Given the description of an element on the screen output the (x, y) to click on. 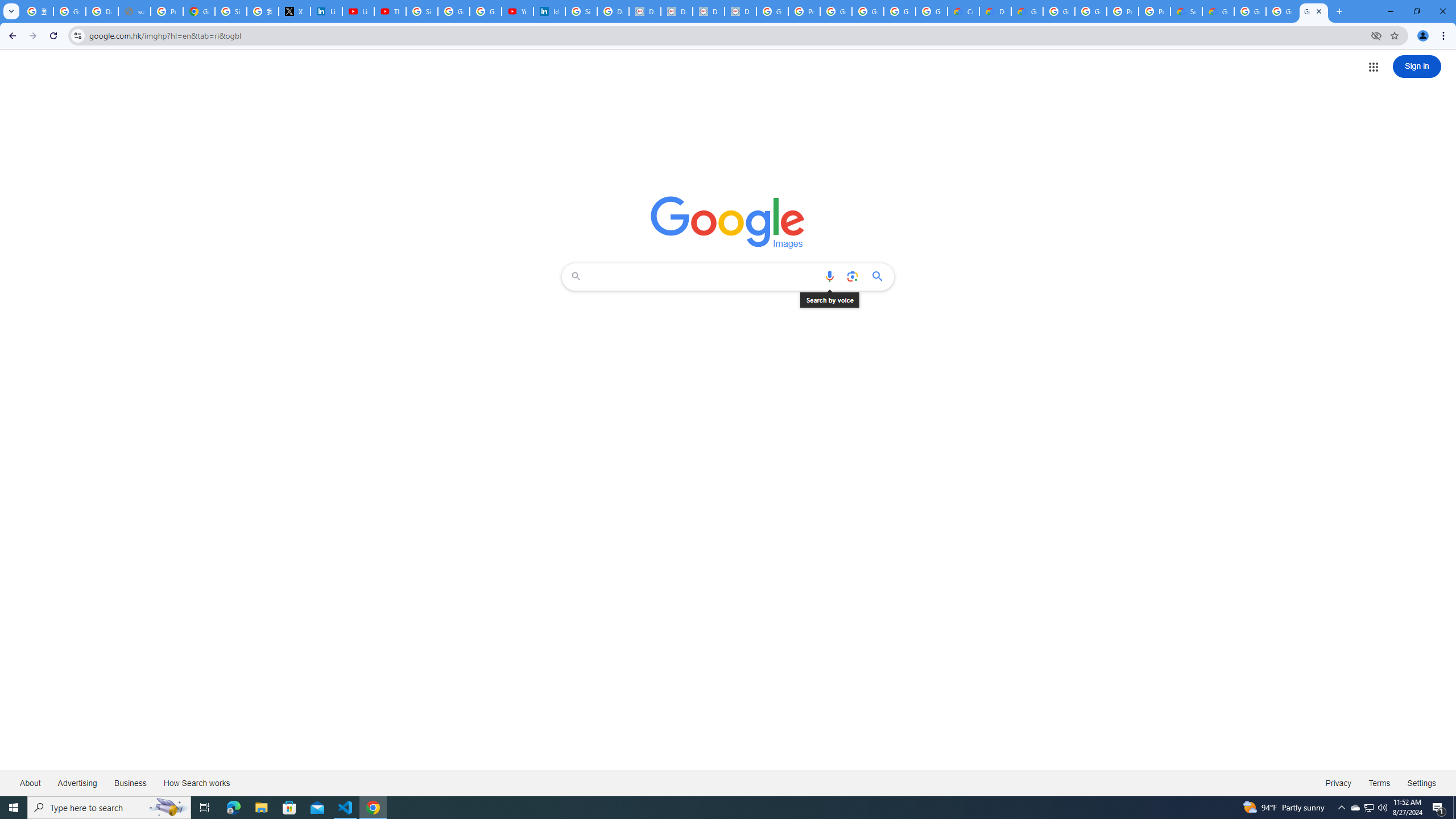
Google Cloud Platform (1091, 11)
Search by voice (829, 276)
support.google.com - Network error (134, 11)
Google Search (880, 276)
Gemini for Business and Developers | Google Cloud (1027, 11)
Data Privacy Framework (740, 11)
